Given the description of an element on the screen output the (x, y) to click on. 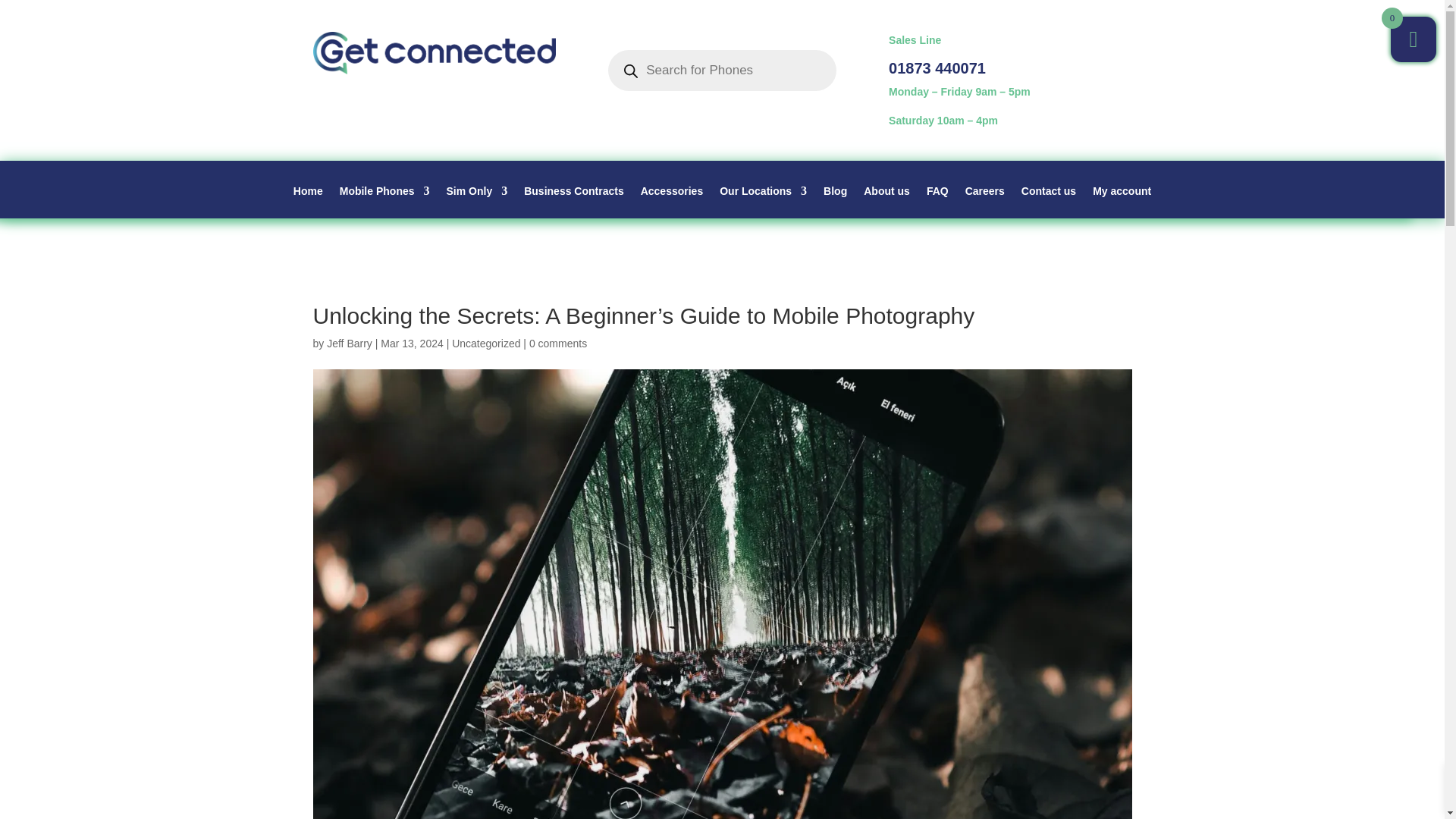
Our Locations (762, 201)
Accessories (671, 201)
Business Contracts (573, 201)
Sim Only (477, 201)
Home (308, 201)
Mobile Phones (384, 201)
Posts by Jeff Barry (349, 343)
